Given the description of an element on the screen output the (x, y) to click on. 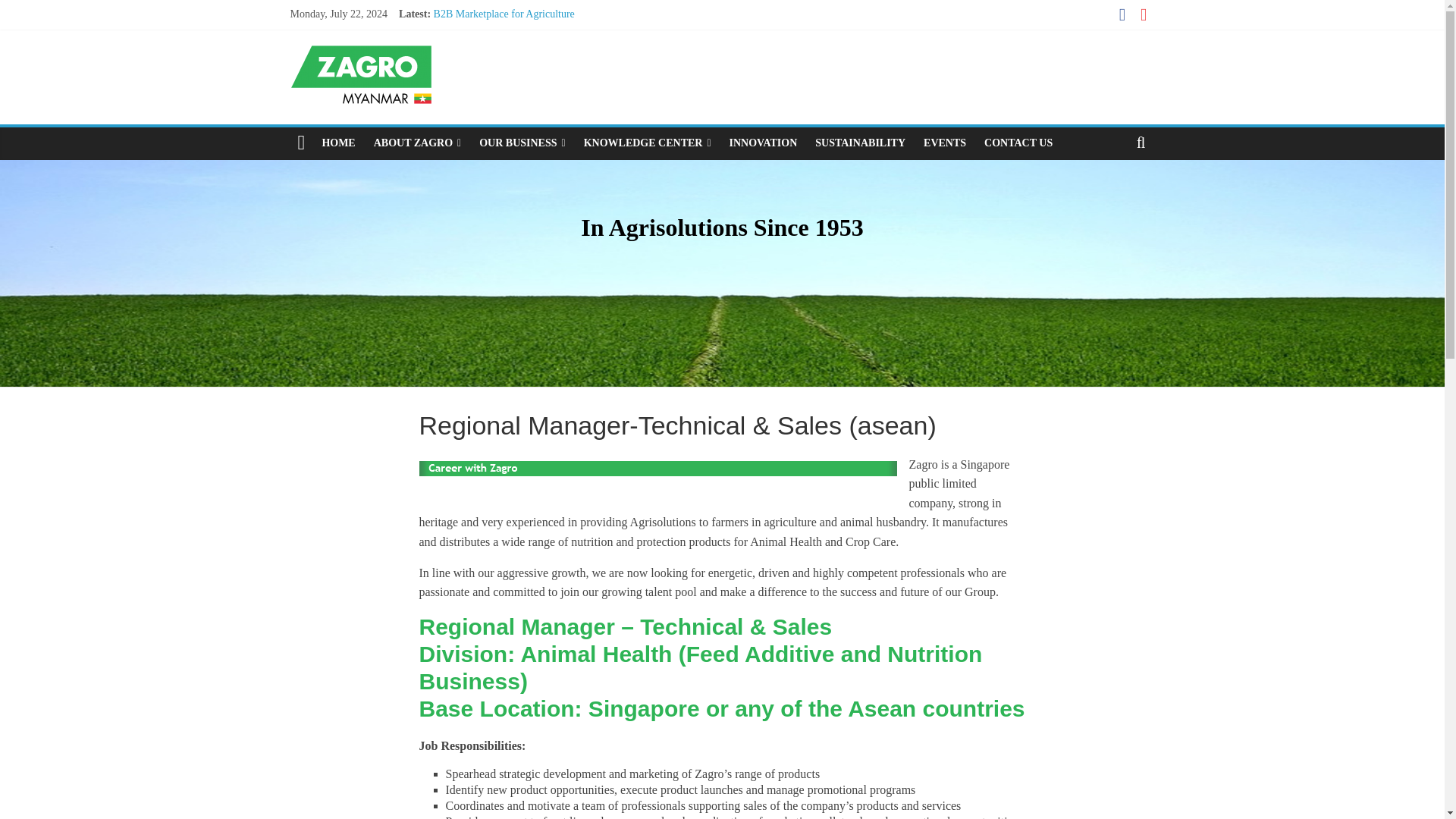
ABOUT ZAGRO (417, 142)
A Company of Hope, People with Faith, With a Heart to Love (565, 48)
Opens a widget where you can chat to one of our agents (1386, 792)
INNOVATION (763, 142)
The Future of Local Farming (495, 30)
B2B Marketplace for Agriculture (504, 13)
HOME (338, 142)
B2B Marketplace for Agriculture (504, 13)
A Company of Hope, People with Faith, With a Heart to Love (565, 48)
SUSTAINABILITY (860, 142)
KNOWLEDGE CENTER (647, 142)
The Future of Local Farming (495, 30)
OUR BUSINESS (521, 142)
